Given the description of an element on the screen output the (x, y) to click on. 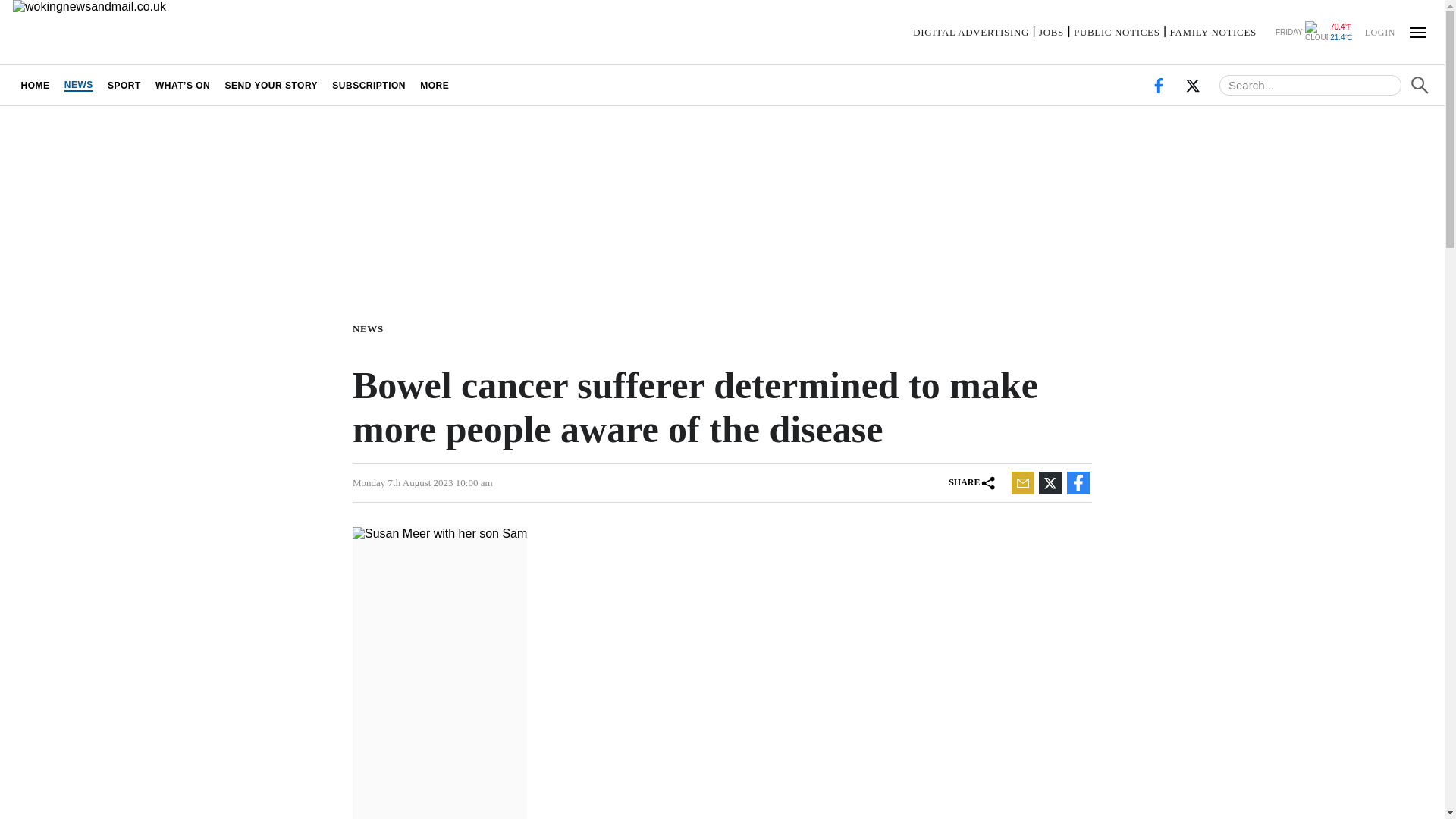
LOGIN (1379, 31)
SUBSCRIPTION (368, 85)
NEWS (371, 328)
HOME (34, 85)
SEND YOUR STORY (270, 85)
MORE (435, 85)
FAMILY NOTICES (1213, 32)
SPORT (124, 85)
NEWS (78, 85)
